Given the description of an element on the screen output the (x, y) to click on. 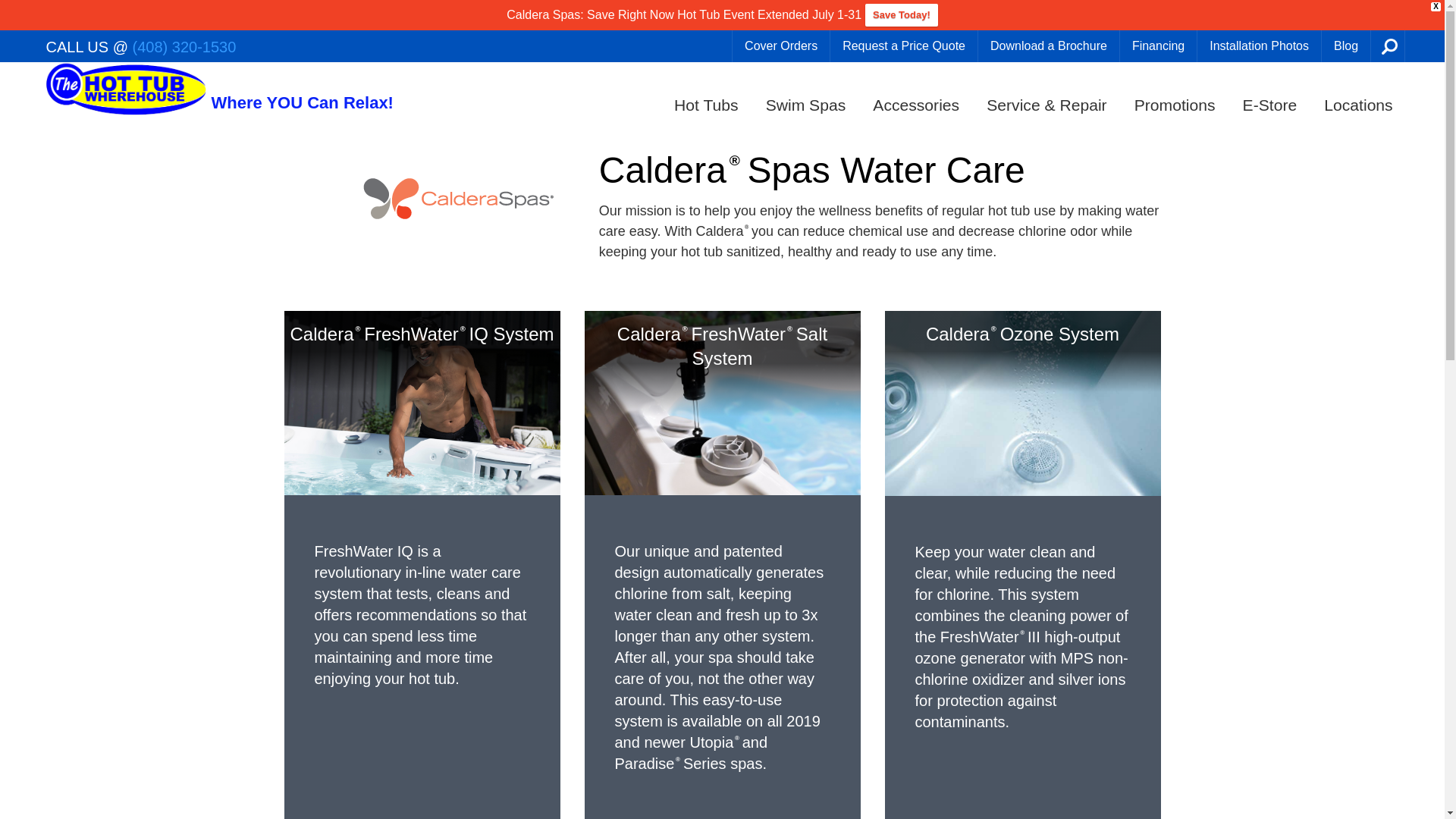
Save Today! (900, 15)
